Given the description of an element on the screen output the (x, y) to click on. 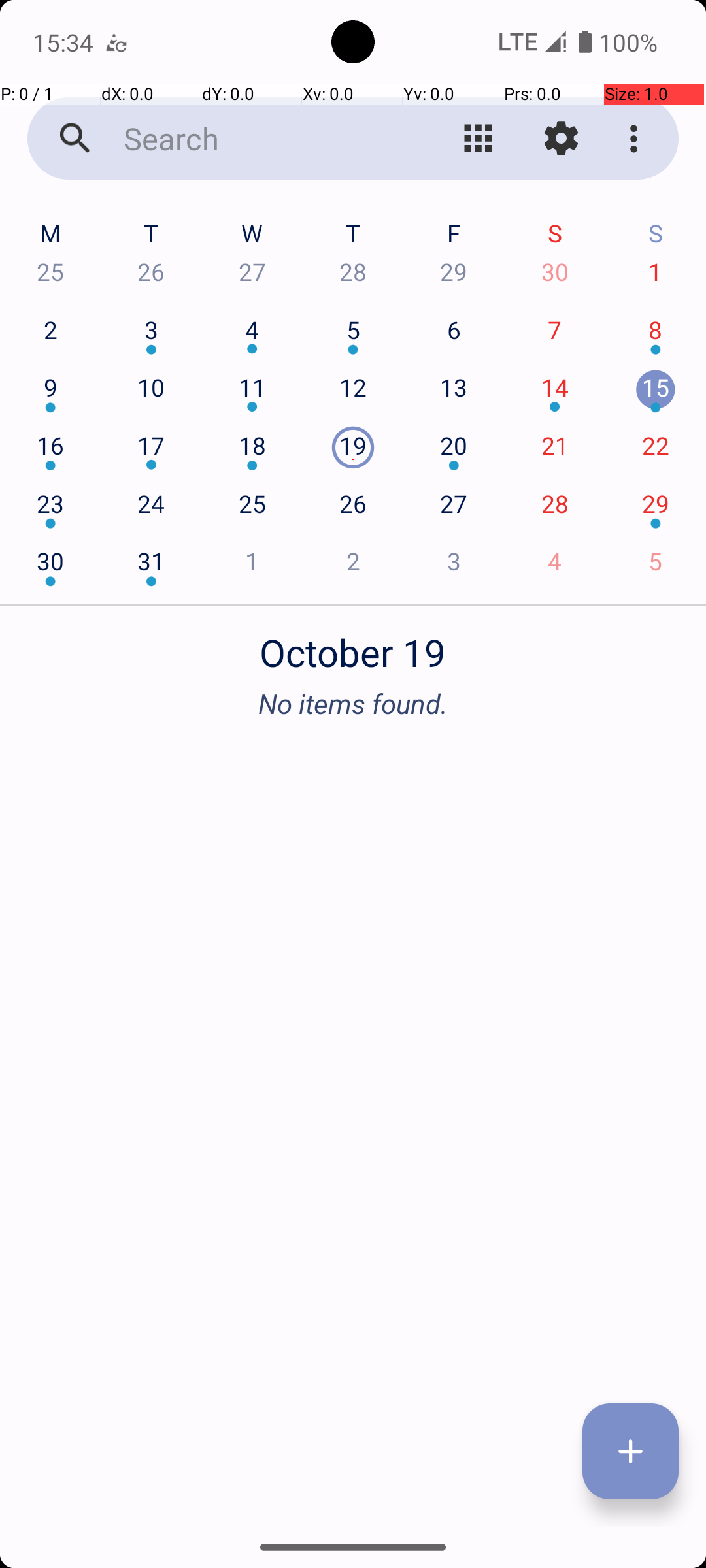
October 19 Element type: android.widget.TextView (352, 644)
